Given the description of an element on the screen output the (x, y) to click on. 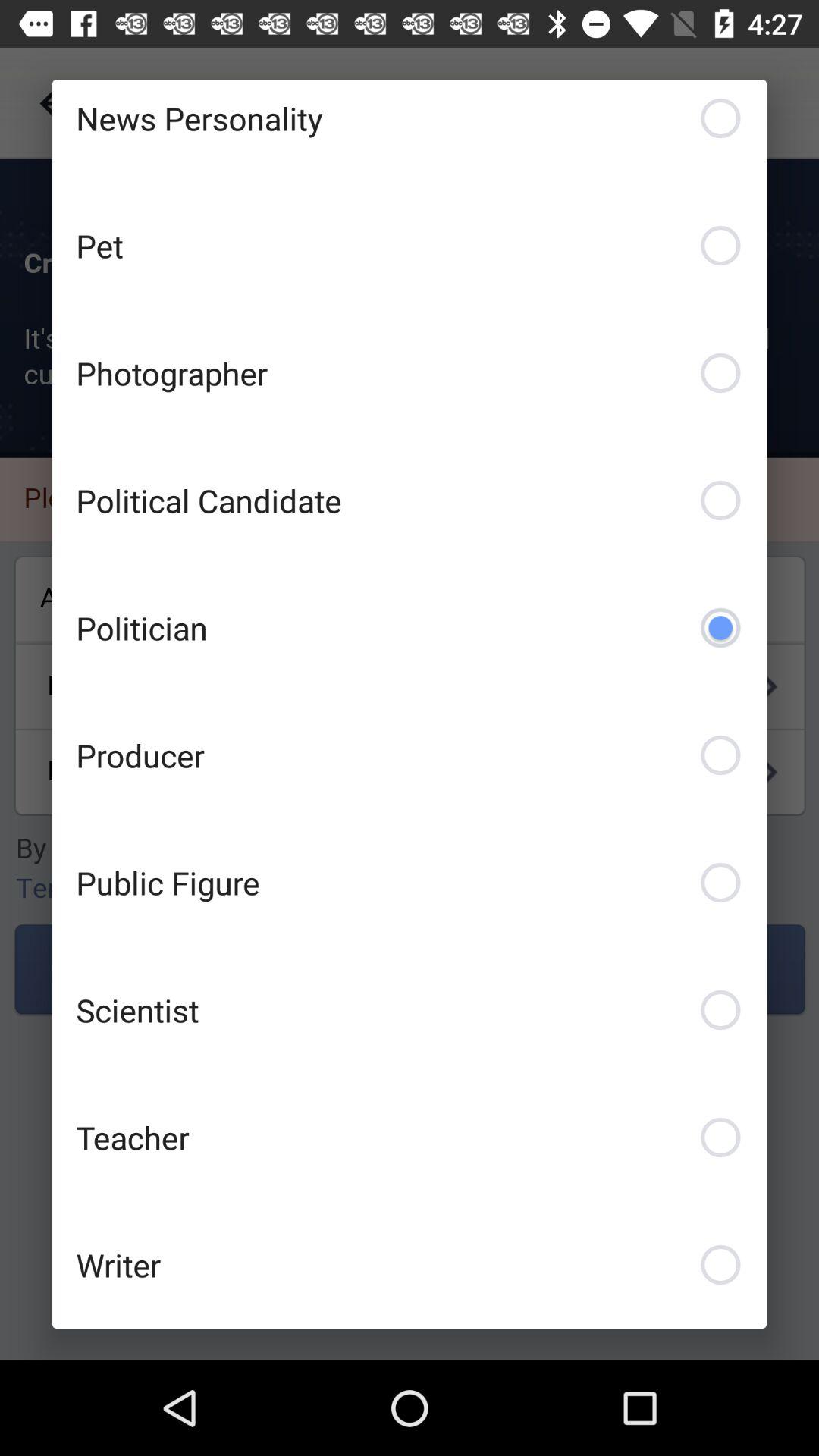
tap icon below the politician icon (409, 755)
